Given the description of an element on the screen output the (x, y) to click on. 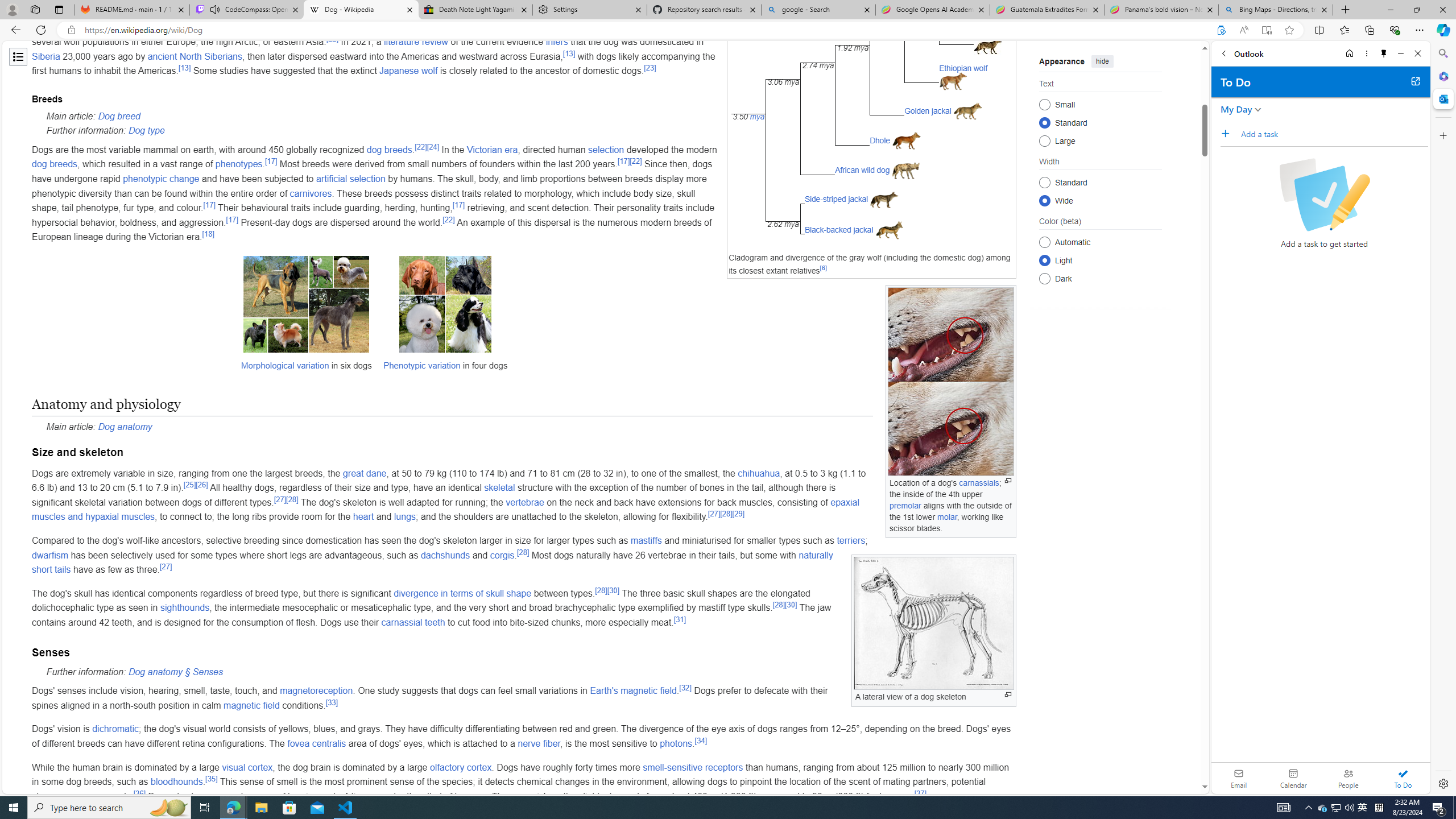
Golden jackal (928, 110)
Google Opens AI Academy for Startups - Nearshore Americas (932, 9)
selection (606, 149)
skeletal (499, 488)
Morphological variation in six dogs (305, 317)
Class: mw-list-item mw-list-item-js (1100, 259)
Light (1044, 259)
Dark (1044, 278)
